Given the description of an element on the screen output the (x, y) to click on. 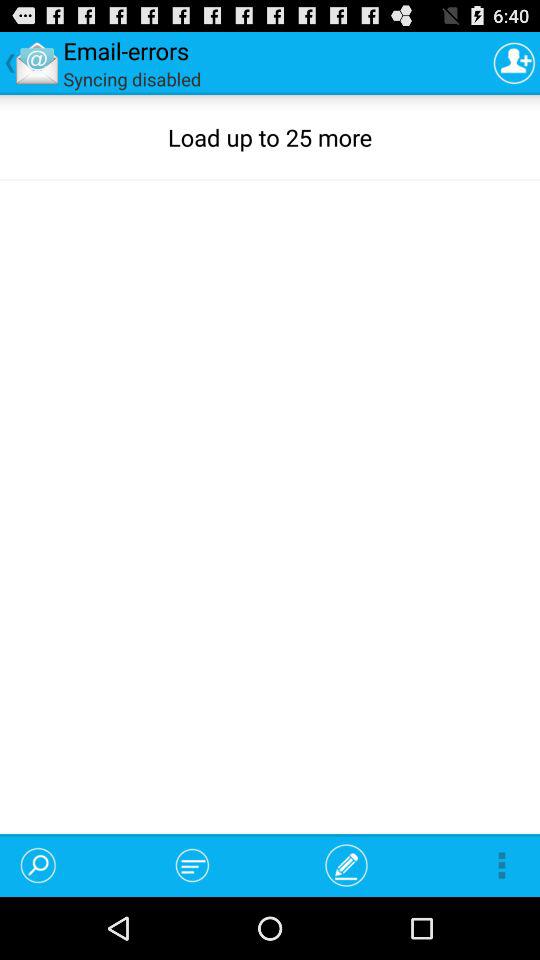
click app below load up to item (346, 864)
